Given the description of an element on the screen output the (x, y) to click on. 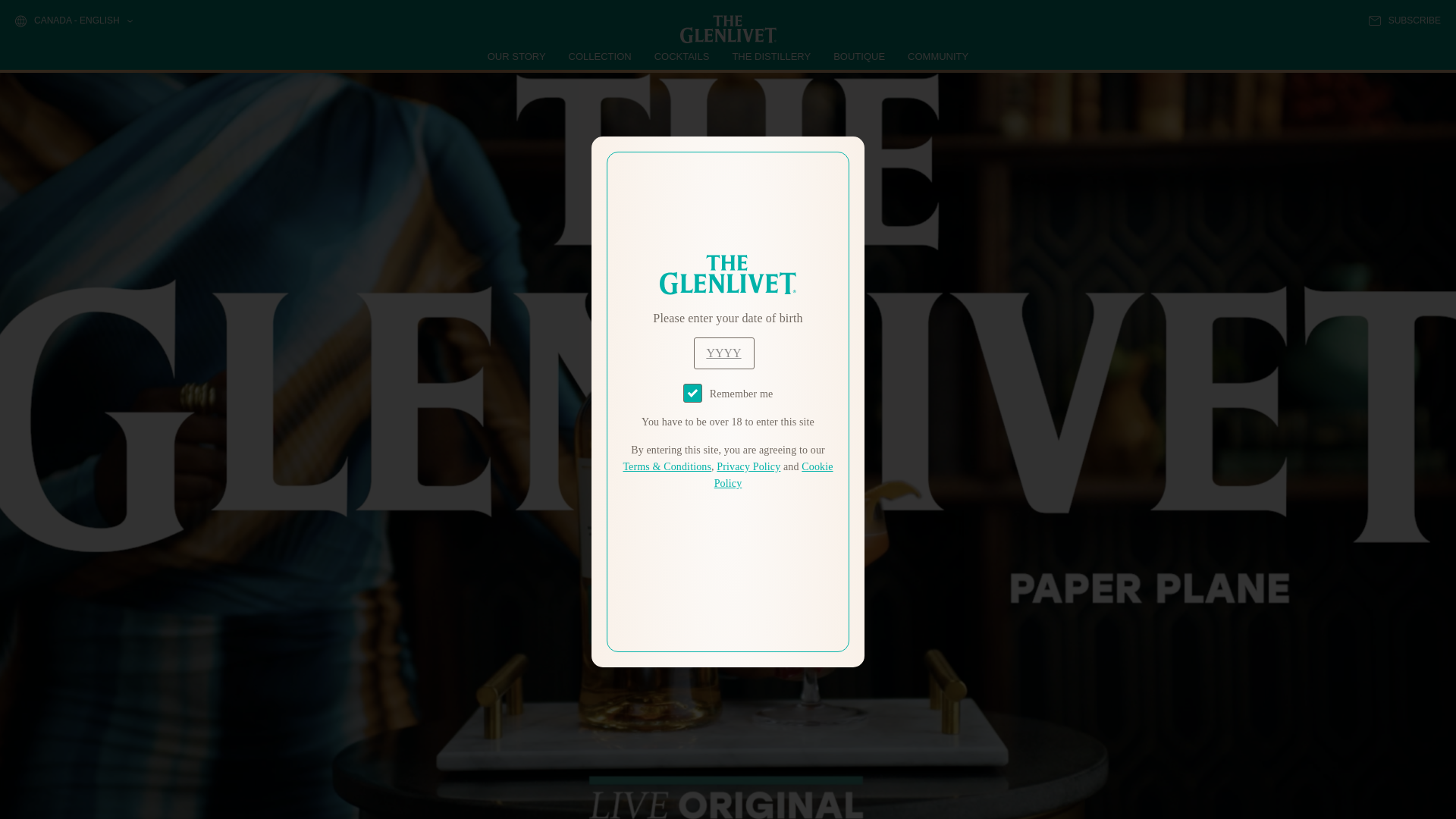
COCKTAILS (681, 56)
BOUTIQUE (858, 56)
year (723, 353)
OUR STORY (516, 56)
Privacy Policy (748, 466)
CANADA - ENGLISH (73, 21)
THE DISTILLERY (771, 56)
SUBSCRIBE (1404, 20)
COLLECTION (600, 56)
Cookie Policy (773, 474)
